Given the description of an element on the screen output the (x, y) to click on. 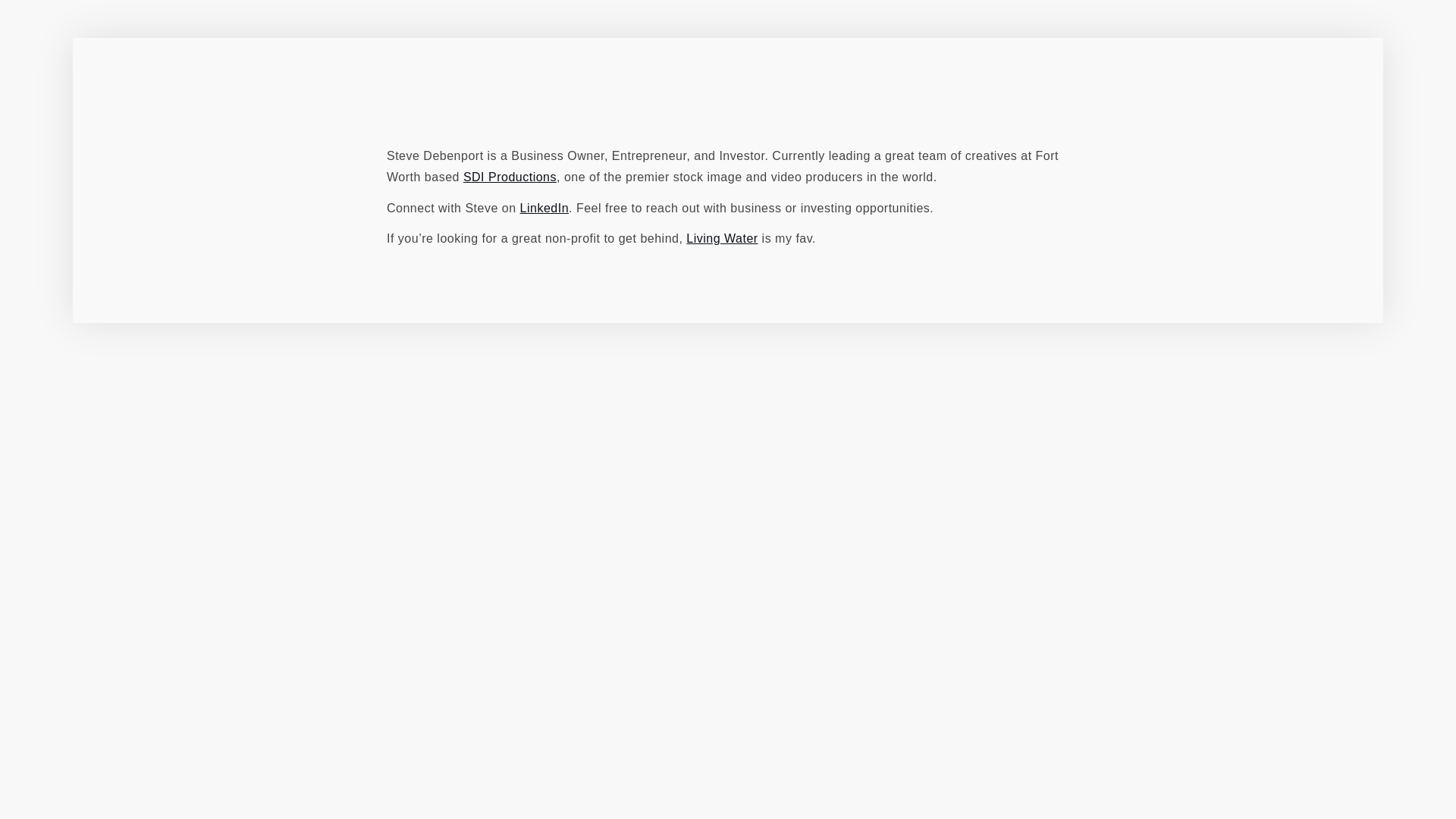
LinkedIn (544, 207)
Living Water (721, 237)
SDI Productions (509, 176)
